Given the description of an element on the screen output the (x, y) to click on. 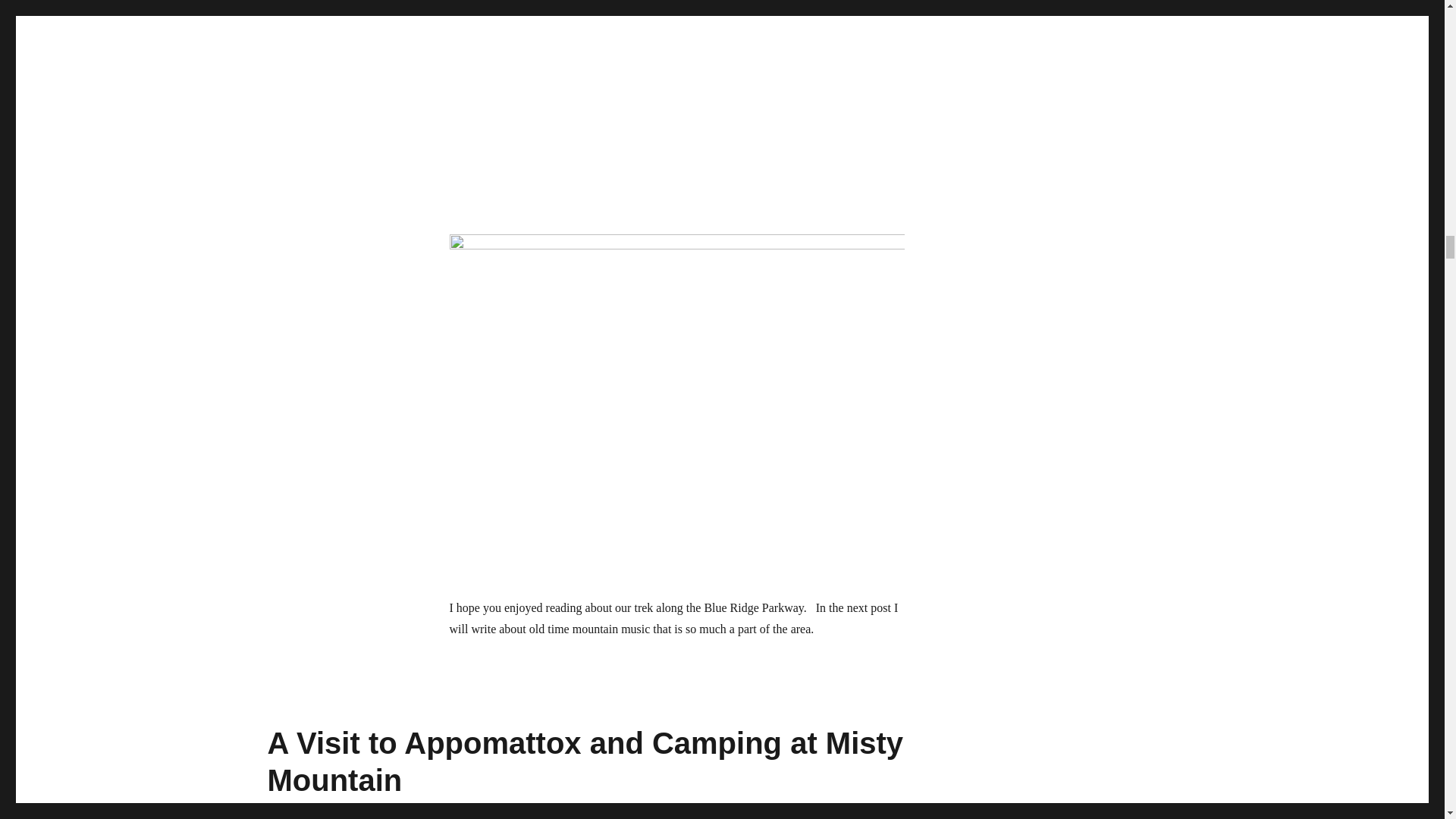
A Visit to Appomattox and Camping at Misty Mountain (584, 761)
